Given the description of an element on the screen output the (x, y) to click on. 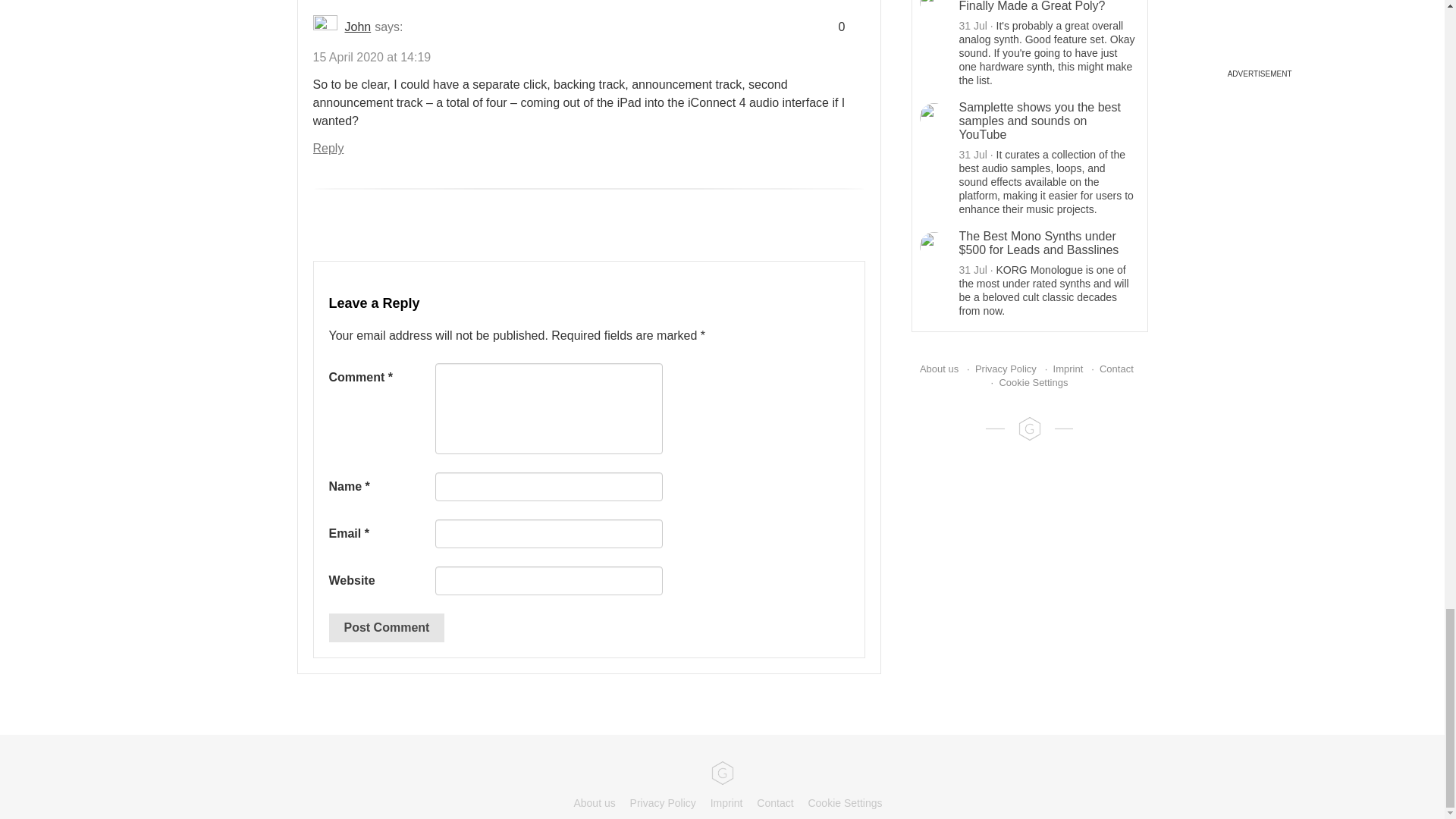
Post Comment (387, 627)
